Given the description of an element on the screen output the (x, y) to click on. 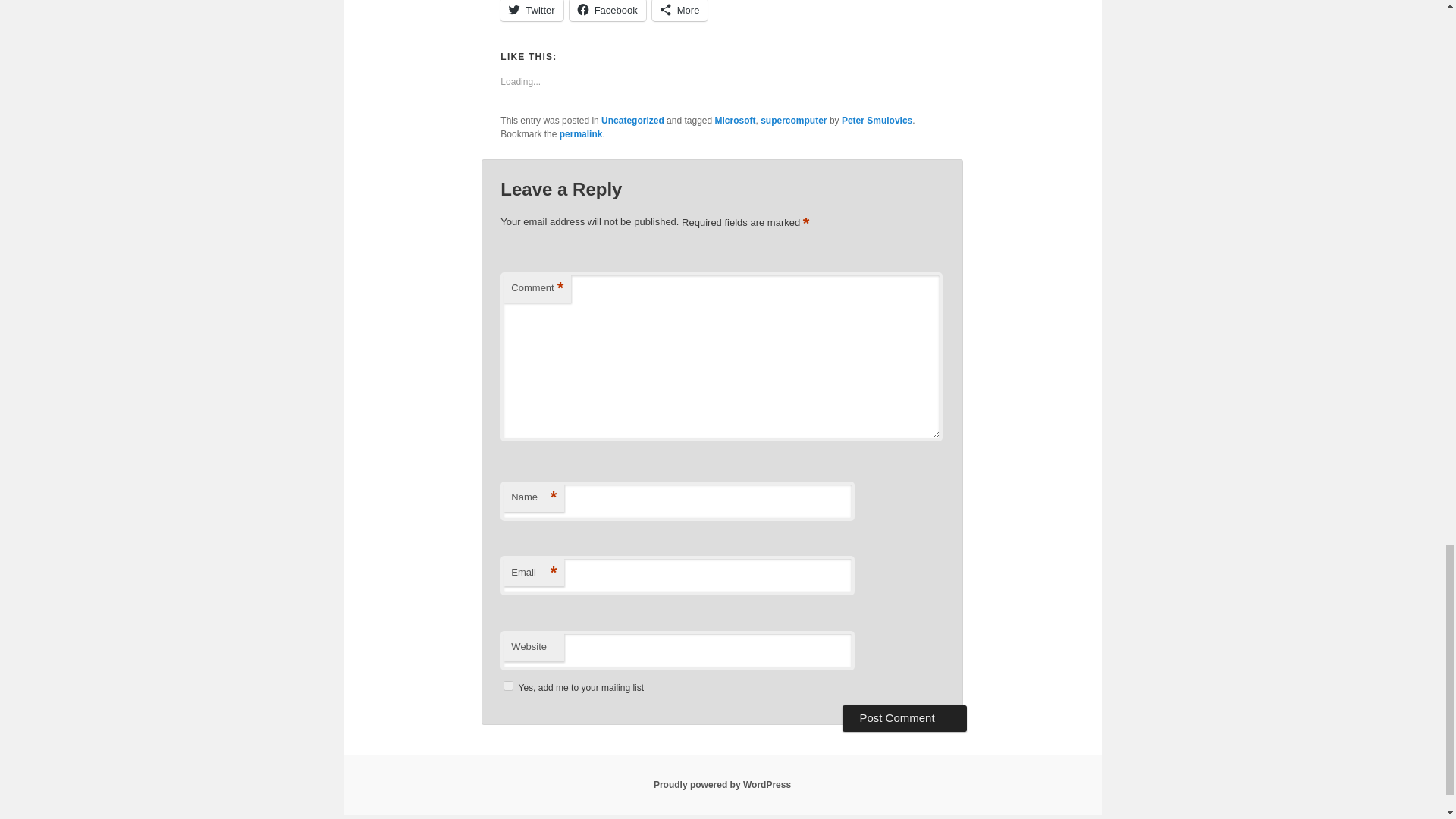
Click to share on Facebook (607, 10)
Proudly powered by WordPress (721, 784)
permalink (580, 133)
1 (508, 685)
Post Comment (904, 718)
Click to share on Twitter (531, 10)
More (679, 10)
Facebook (607, 10)
Peter Smulovics (876, 120)
Uncategorized (632, 120)
